Given the description of an element on the screen output the (x, y) to click on. 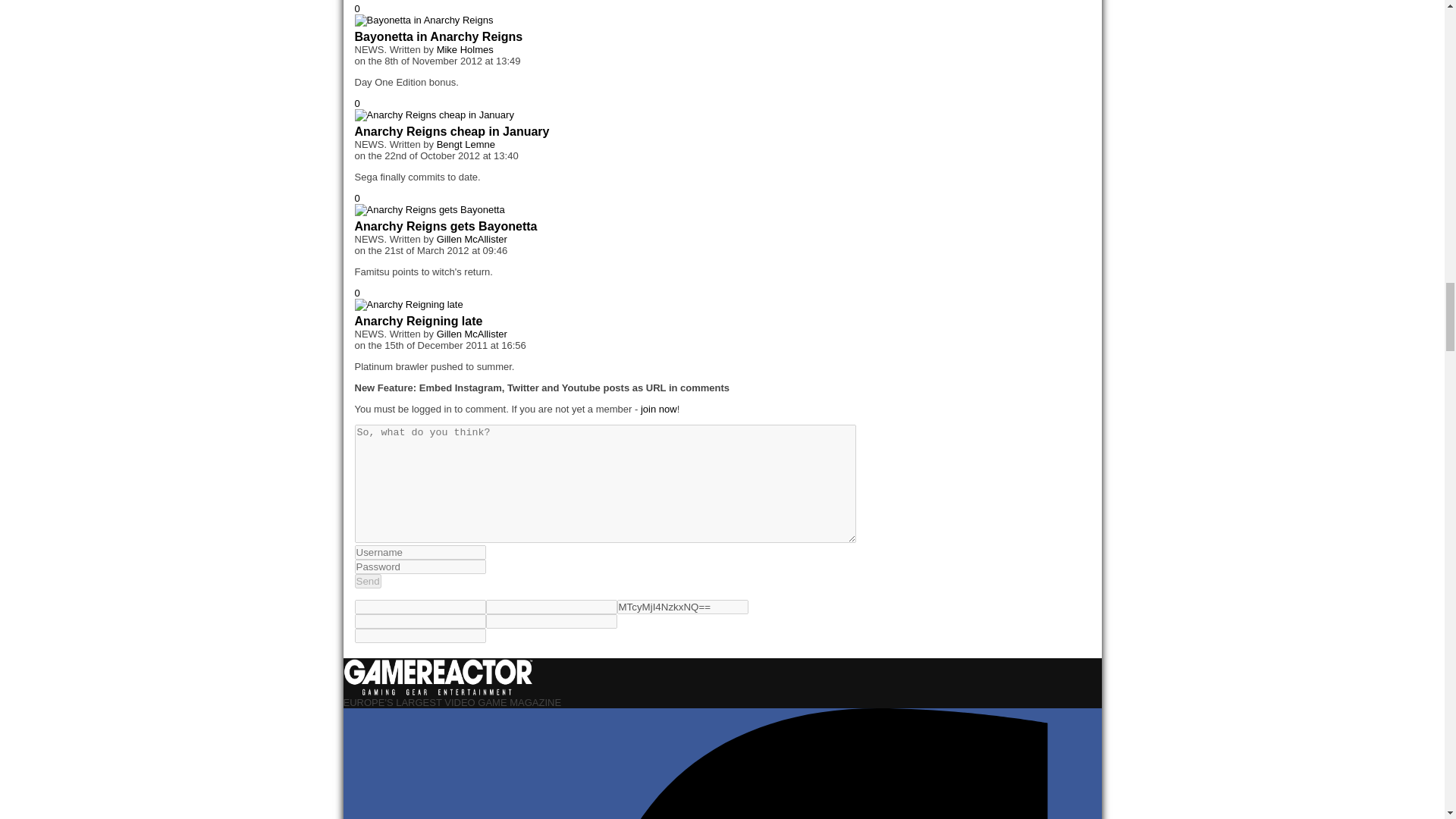
Send (368, 581)
